Given the description of an element on the screen output the (x, y) to click on. 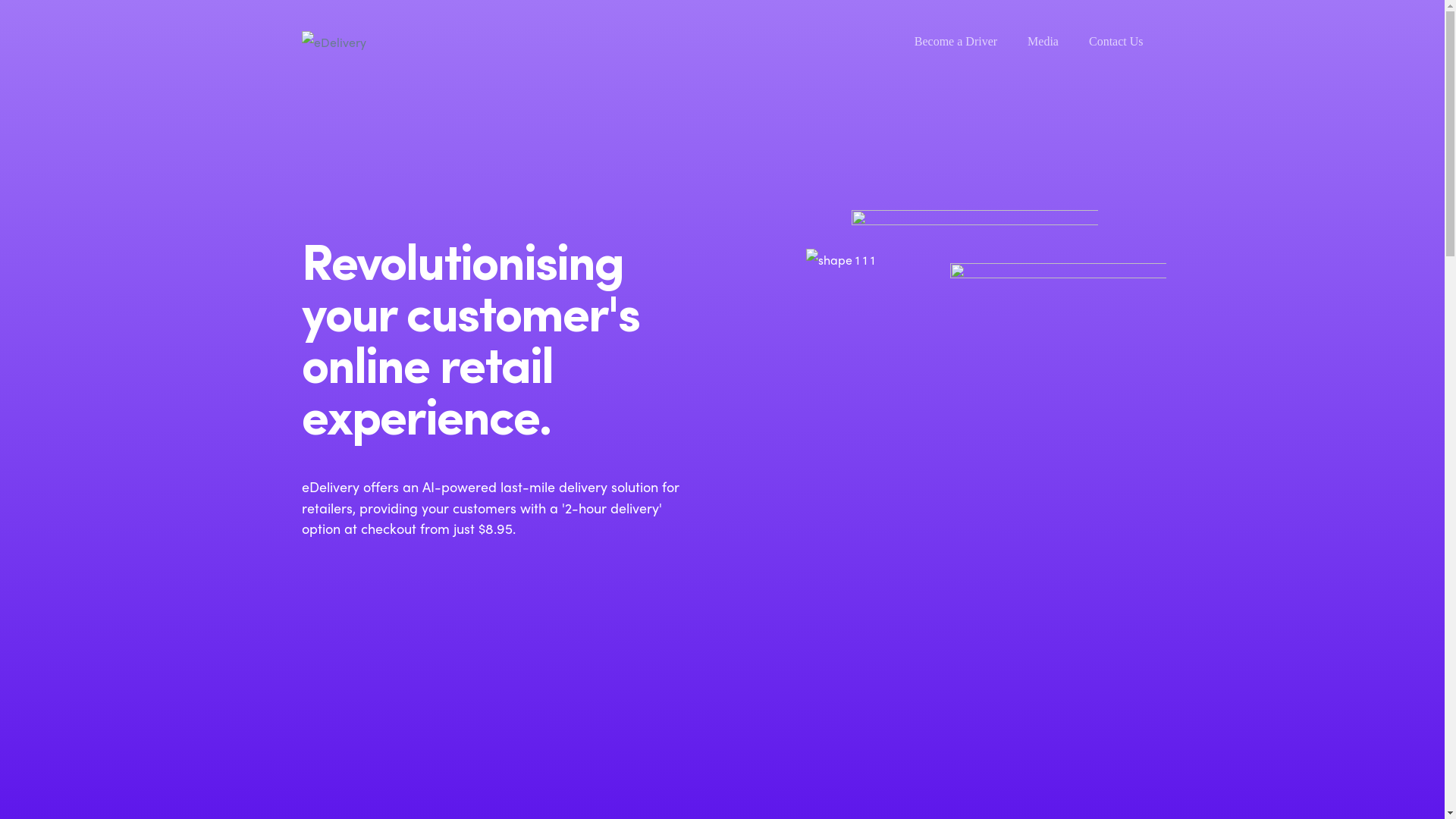
Become a Driver Element type: text (955, 41)
Media Element type: text (1042, 41)
Contact Us Element type: text (1115, 41)
